Given the description of an element on the screen output the (x, y) to click on. 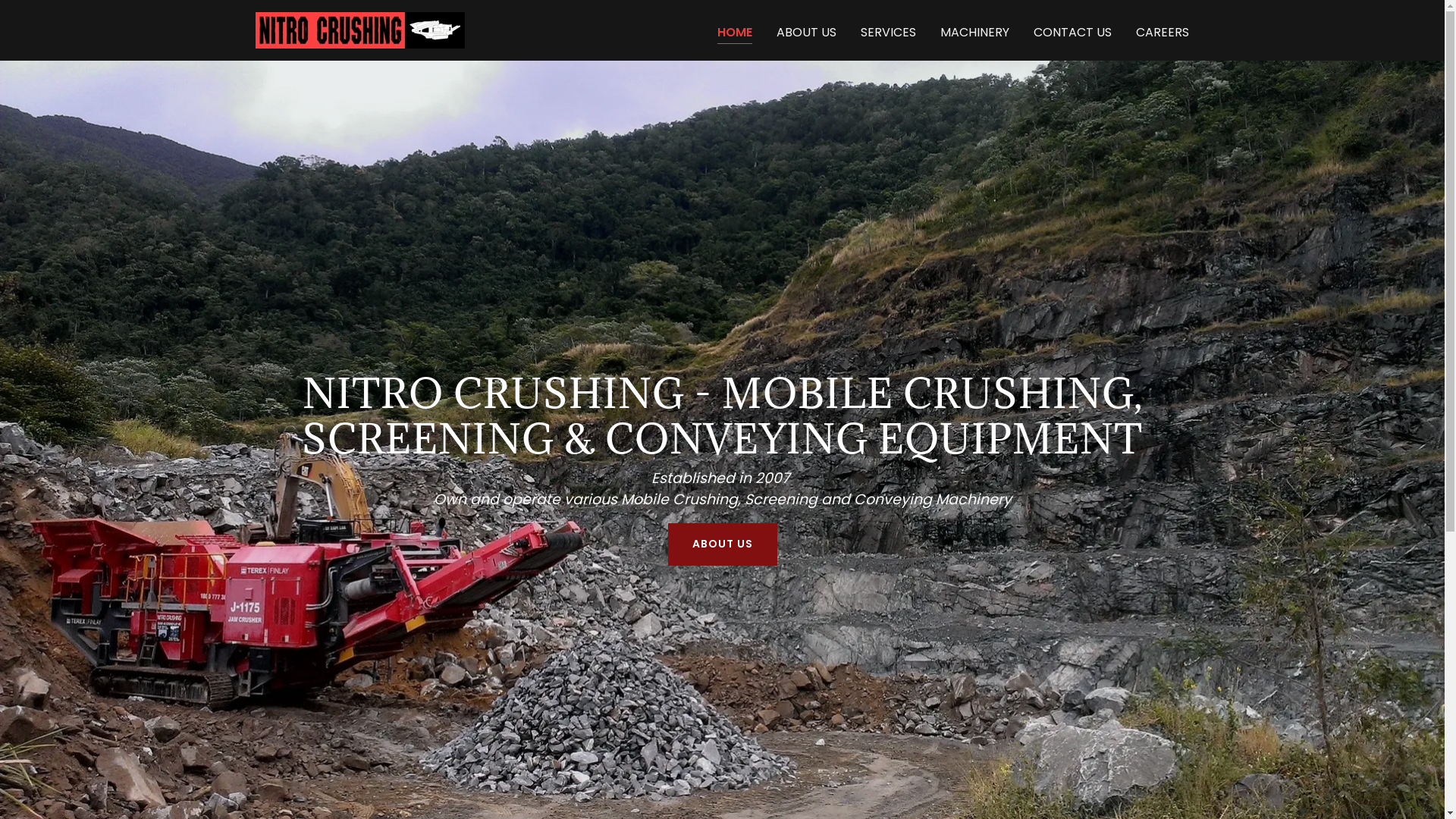
ABOUT US Element type: text (805, 31)
HOME Element type: text (734, 32)
CAREERS Element type: text (1162, 31)
SERVICES Element type: text (888, 31)
MACHINERY Element type: text (974, 31)
ABOUT US Element type: text (721, 544)
CONTACT US Element type: text (1072, 31)
